Given the description of an element on the screen output the (x, y) to click on. 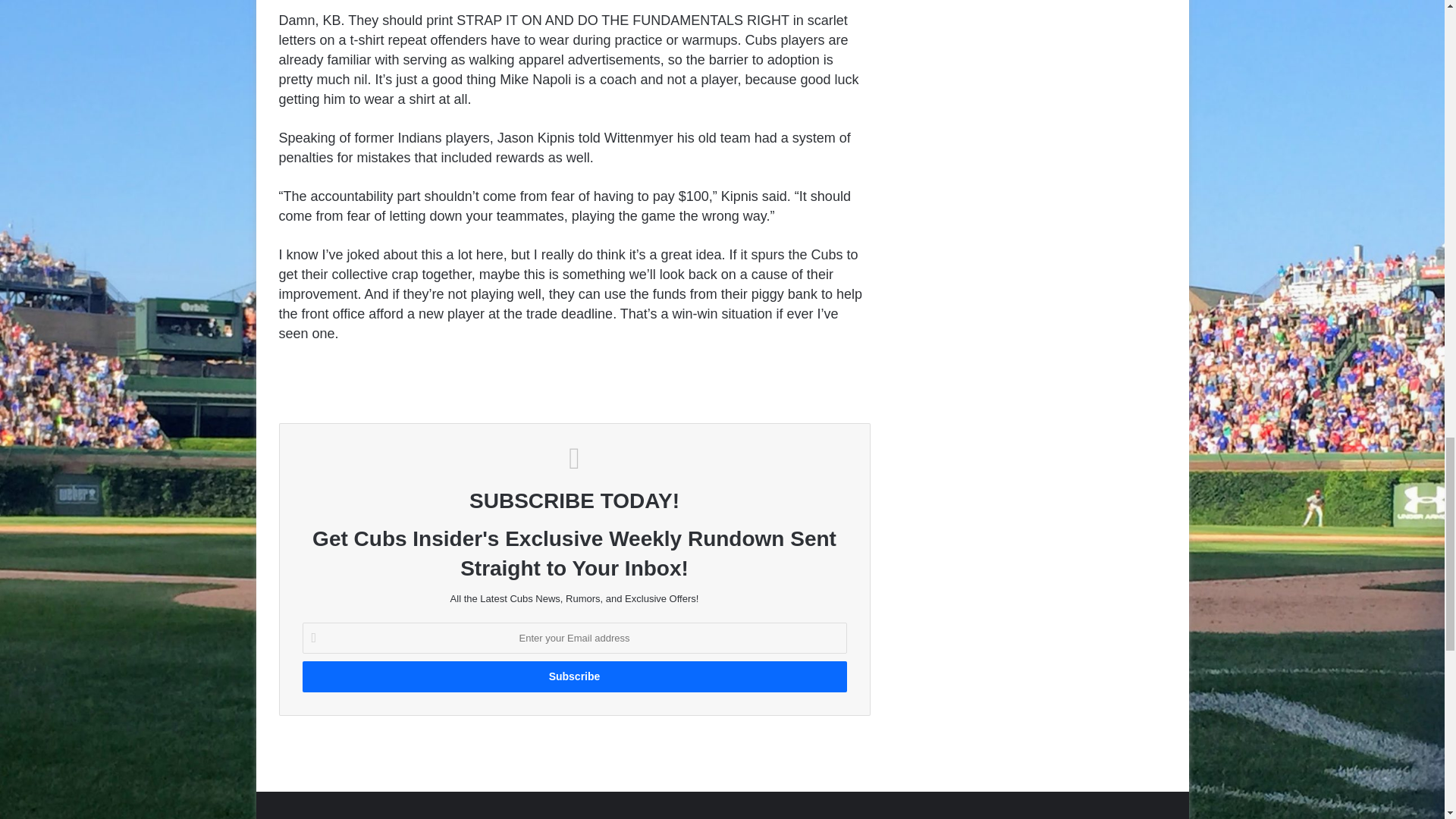
Subscribe (573, 676)
